Given the description of an element on the screen output the (x, y) to click on. 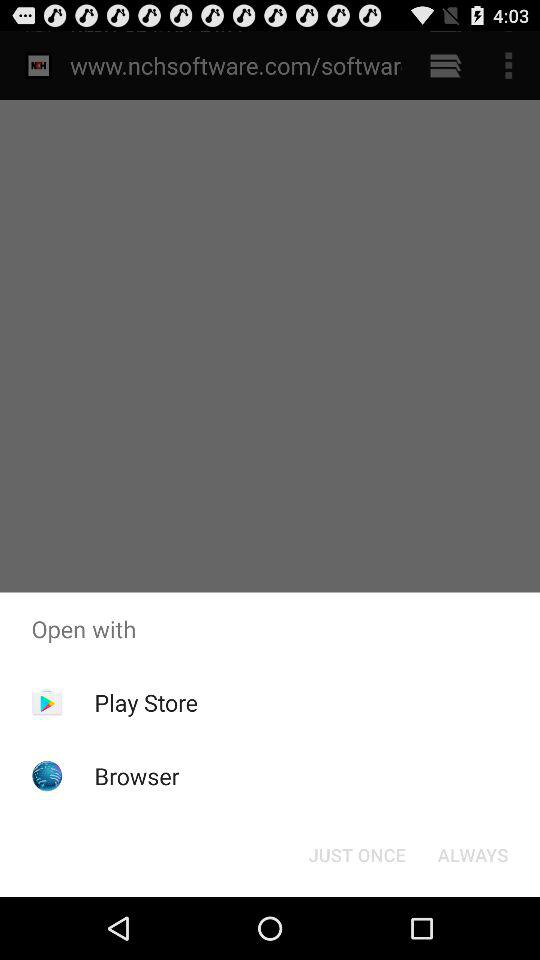
tap play store icon (146, 702)
